Given the description of an element on the screen output the (x, y) to click on. 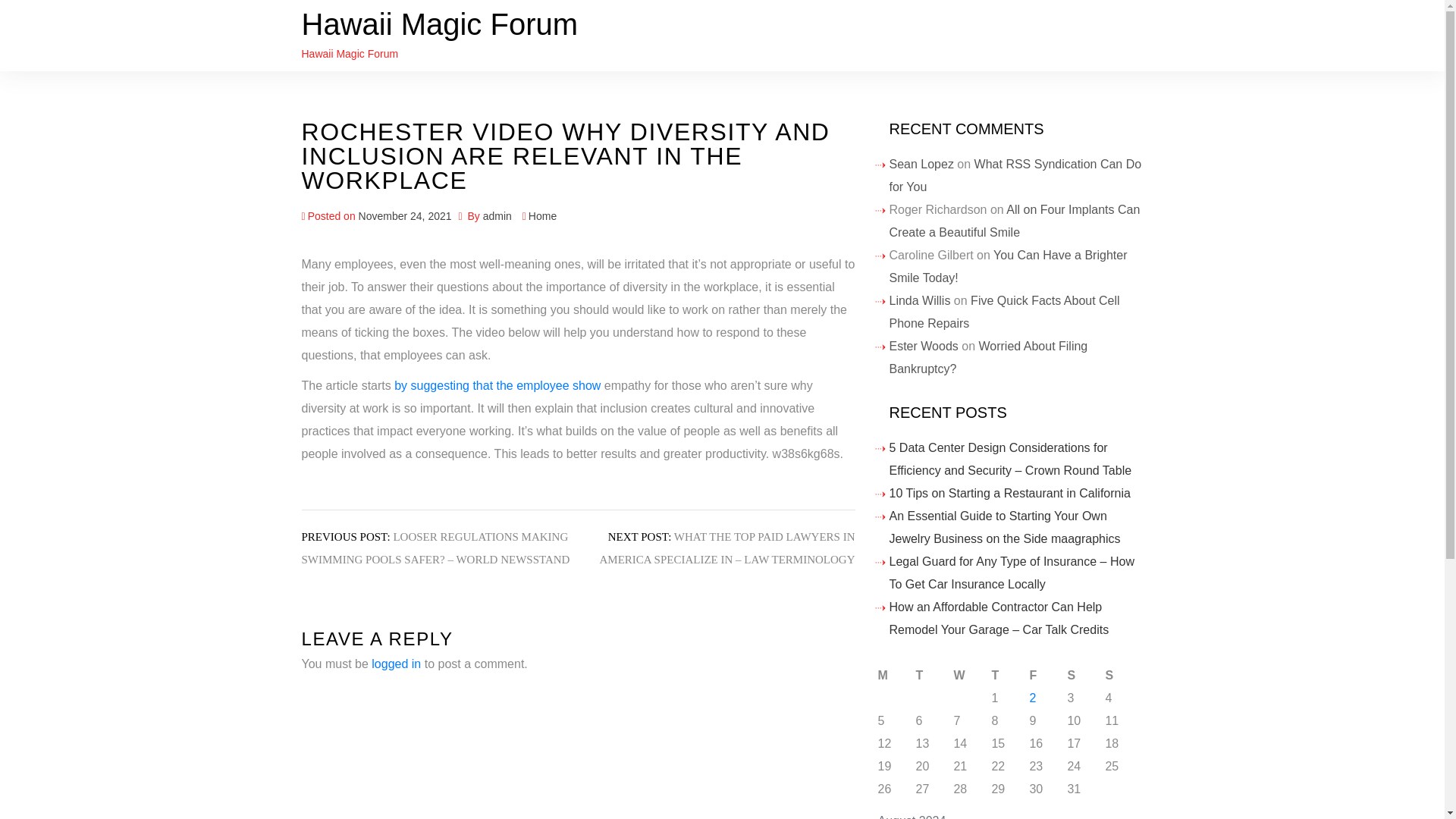
admin (497, 215)
Monday (896, 675)
Wednesday (972, 675)
Sean Lopez (920, 164)
Hawaii Magic Forum (439, 23)
Ester Woods (923, 345)
10 Tips on Starting a Restaurant in California (1008, 492)
Linda Willis (919, 300)
Saturday (1086, 675)
